Given the description of an element on the screen output the (x, y) to click on. 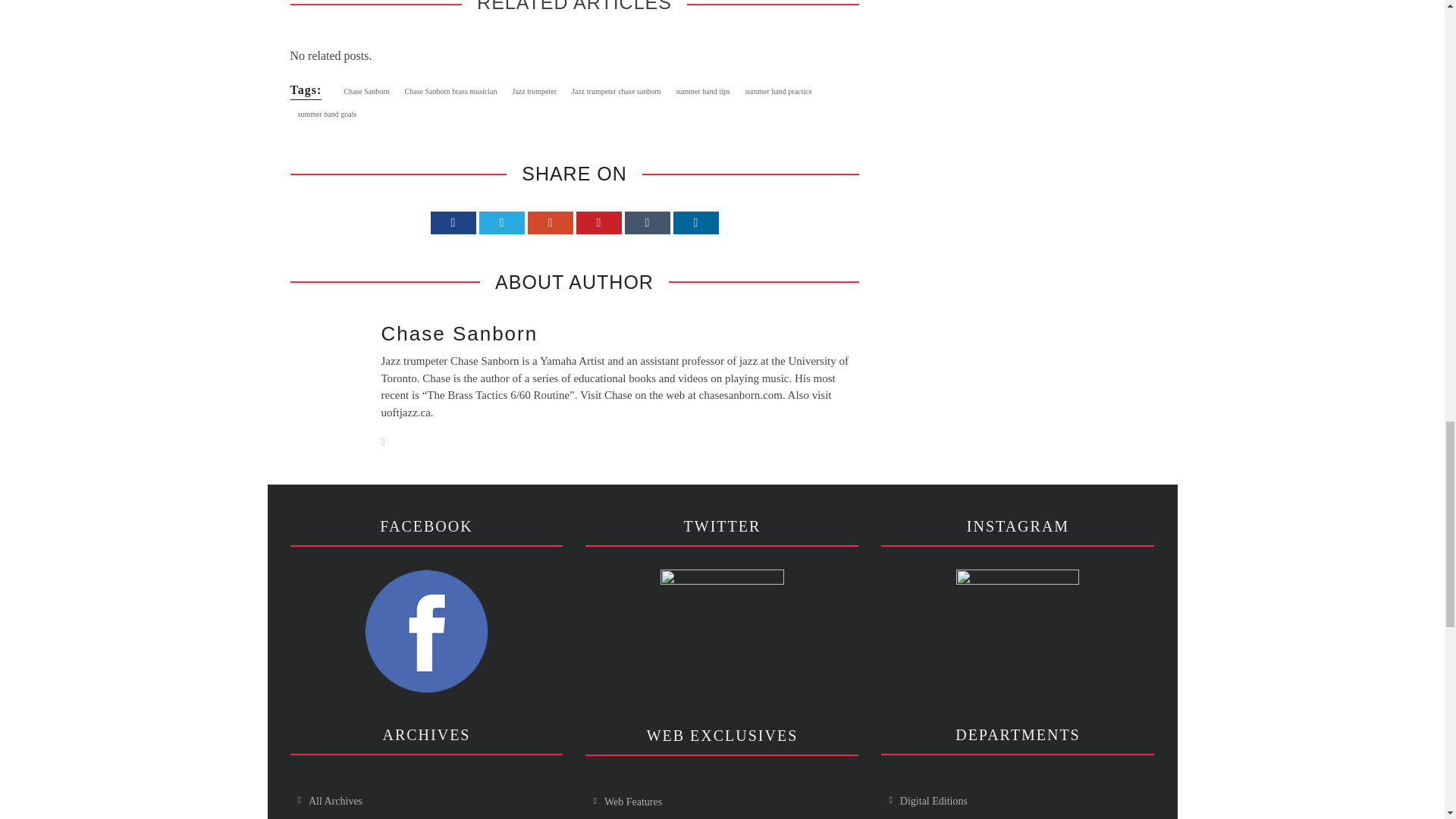
View all posts tagged Jazz trumpeter (533, 91)
View all posts tagged Jazz trumpeter chase sanborn (616, 91)
View all posts tagged summer band tips (703, 91)
View all posts tagged Chase Sanborn (366, 91)
View all posts tagged summer band practice (778, 91)
View all posts tagged Chase Sanborn brass musician (451, 91)
View all posts tagged summer band goals (326, 114)
